Given the description of an element on the screen output the (x, y) to click on. 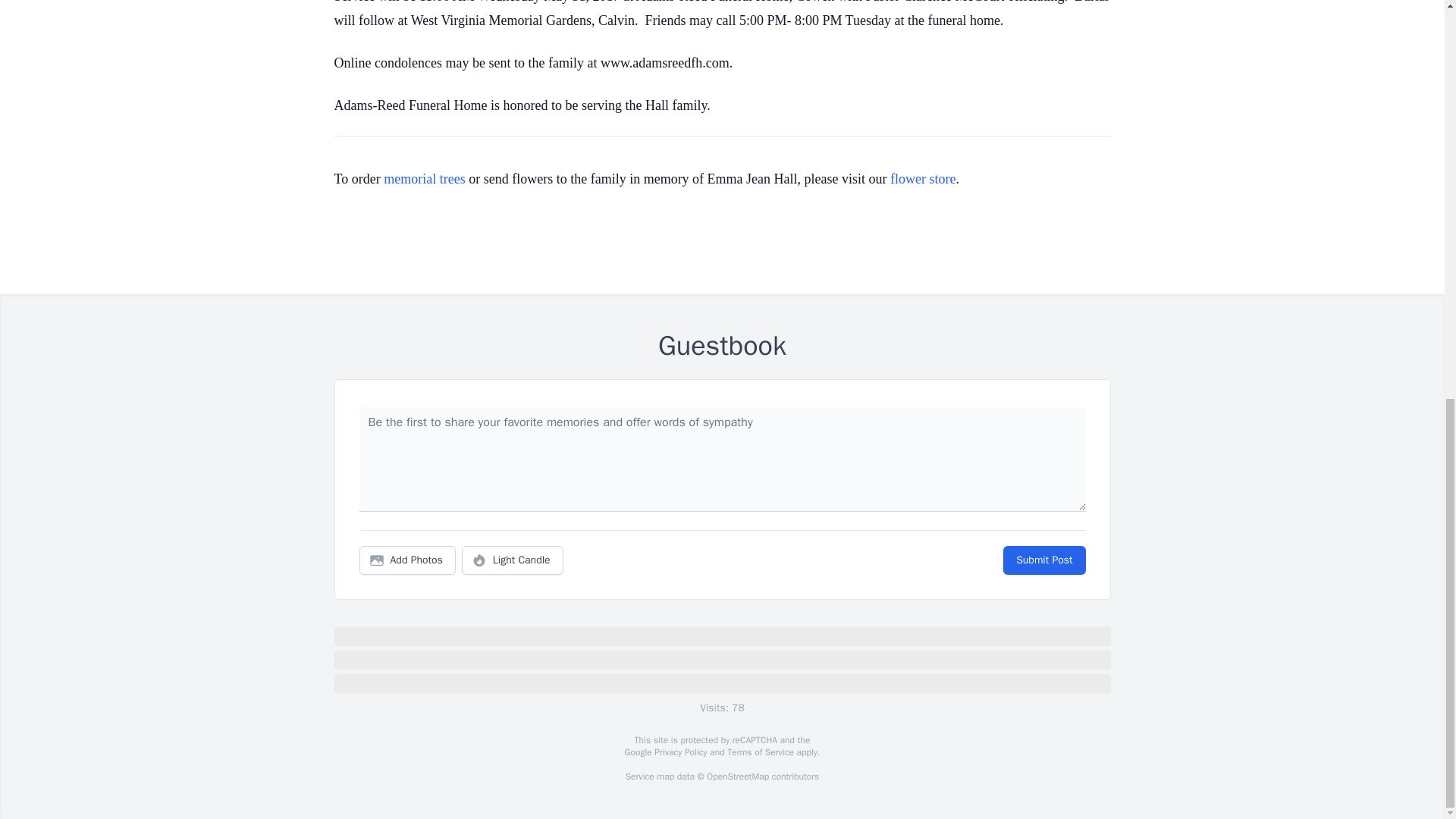
Terms of Service (759, 752)
Submit Post (1043, 560)
OpenStreetMap (737, 776)
memorial trees (424, 178)
Add Photos (407, 560)
Privacy Policy (679, 752)
flower store (922, 178)
Light Candle (512, 560)
